Given the description of an element on the screen output the (x, y) to click on. 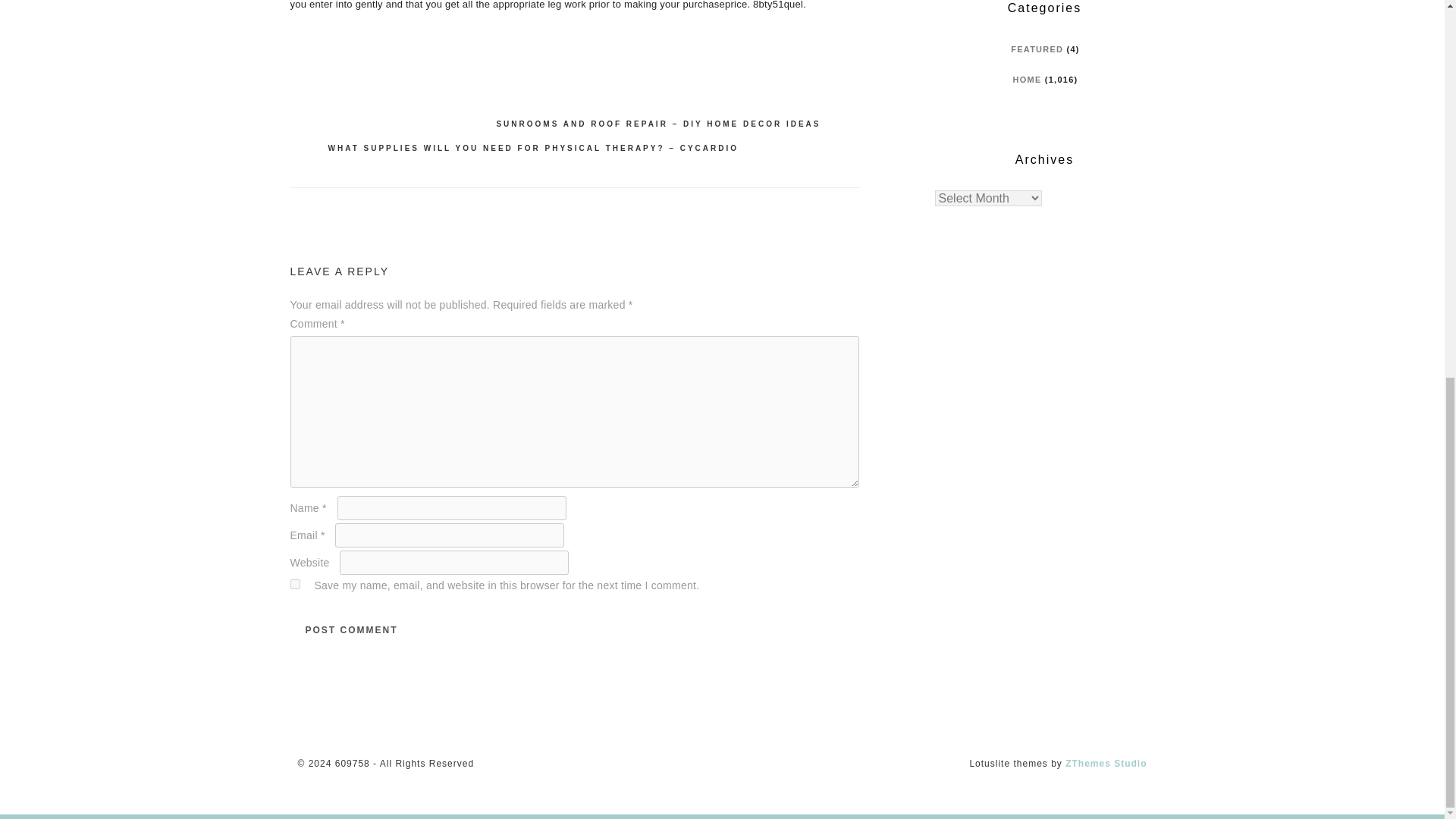
Post Comment (350, 630)
yes (294, 583)
FEATURED (1036, 49)
ZThemes Studio (1106, 763)
Post Comment (350, 630)
HOME (1027, 79)
